Given the description of an element on the screen output the (x, y) to click on. 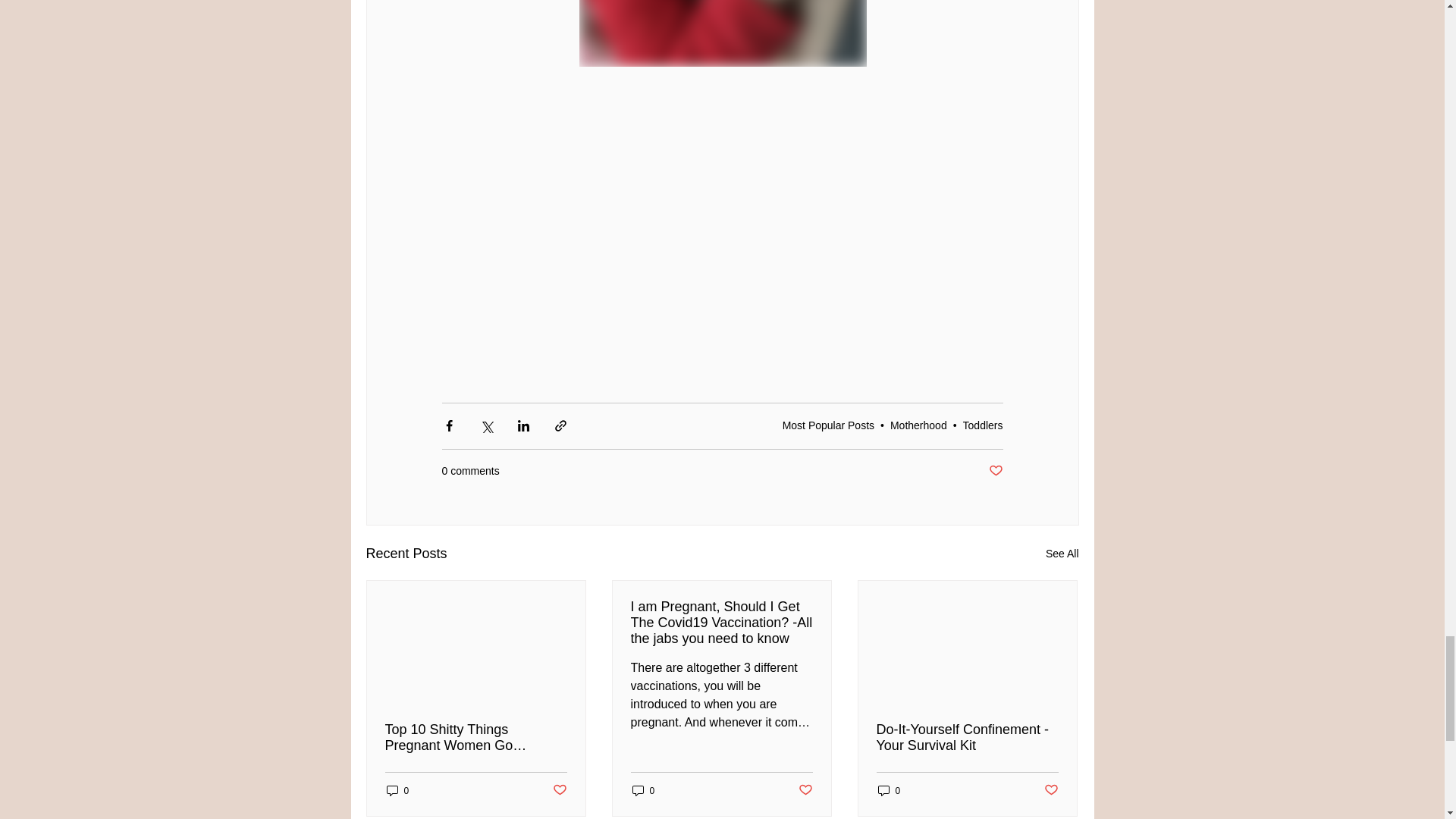
0 (643, 789)
Post not marked as liked (558, 790)
Motherhood (918, 425)
Post not marked as liked (804, 790)
0 (889, 789)
Most Popular Posts (829, 425)
0 (397, 789)
Toddlers (982, 425)
Top 10 Shitty Things Pregnant Women Go Through (476, 737)
